Given the description of an element on the screen output the (x, y) to click on. 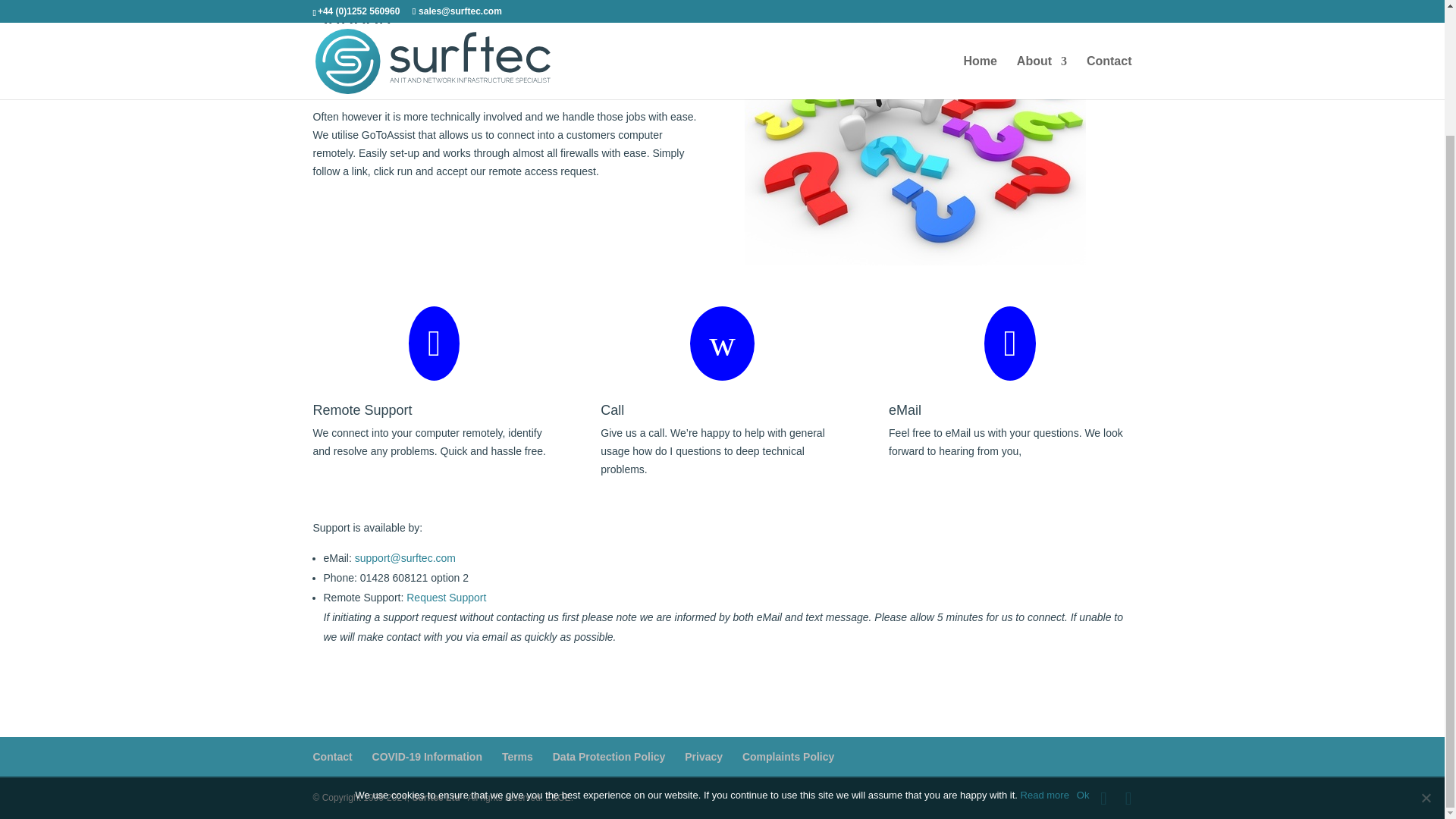
Surftec Ltd (436, 797)
Remote Support (362, 409)
Terms (517, 756)
Contact (332, 756)
Privacy (703, 756)
No (1425, 645)
Request Support (446, 597)
Data Protection Policy (609, 756)
Complaints Policy (788, 756)
COVID-19 Information (426, 756)
